Given the description of an element on the screen output the (x, y) to click on. 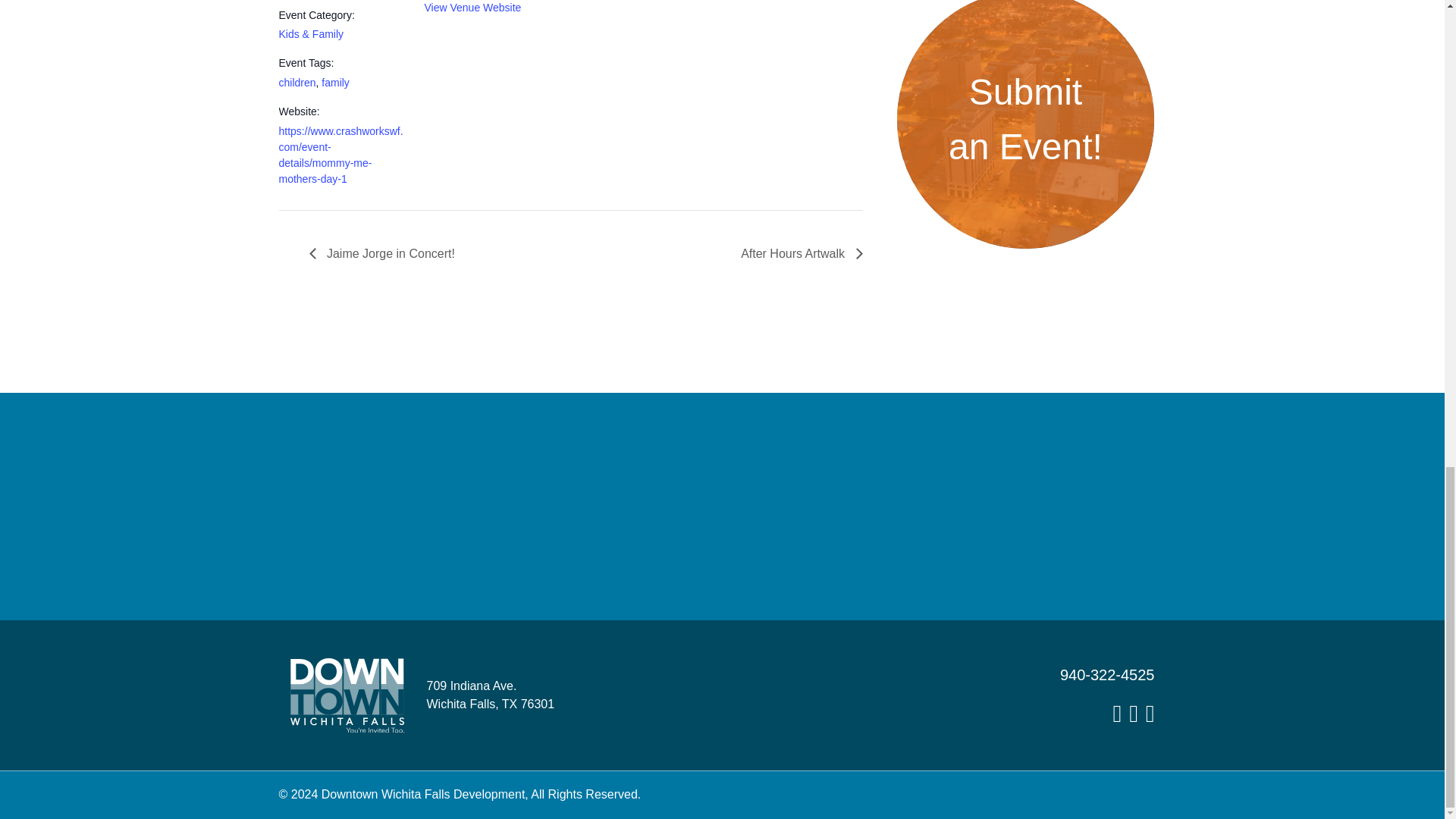
Get Directions (490, 694)
children (297, 82)
family (335, 82)
